Given the description of an element on the screen output the (x, y) to click on. 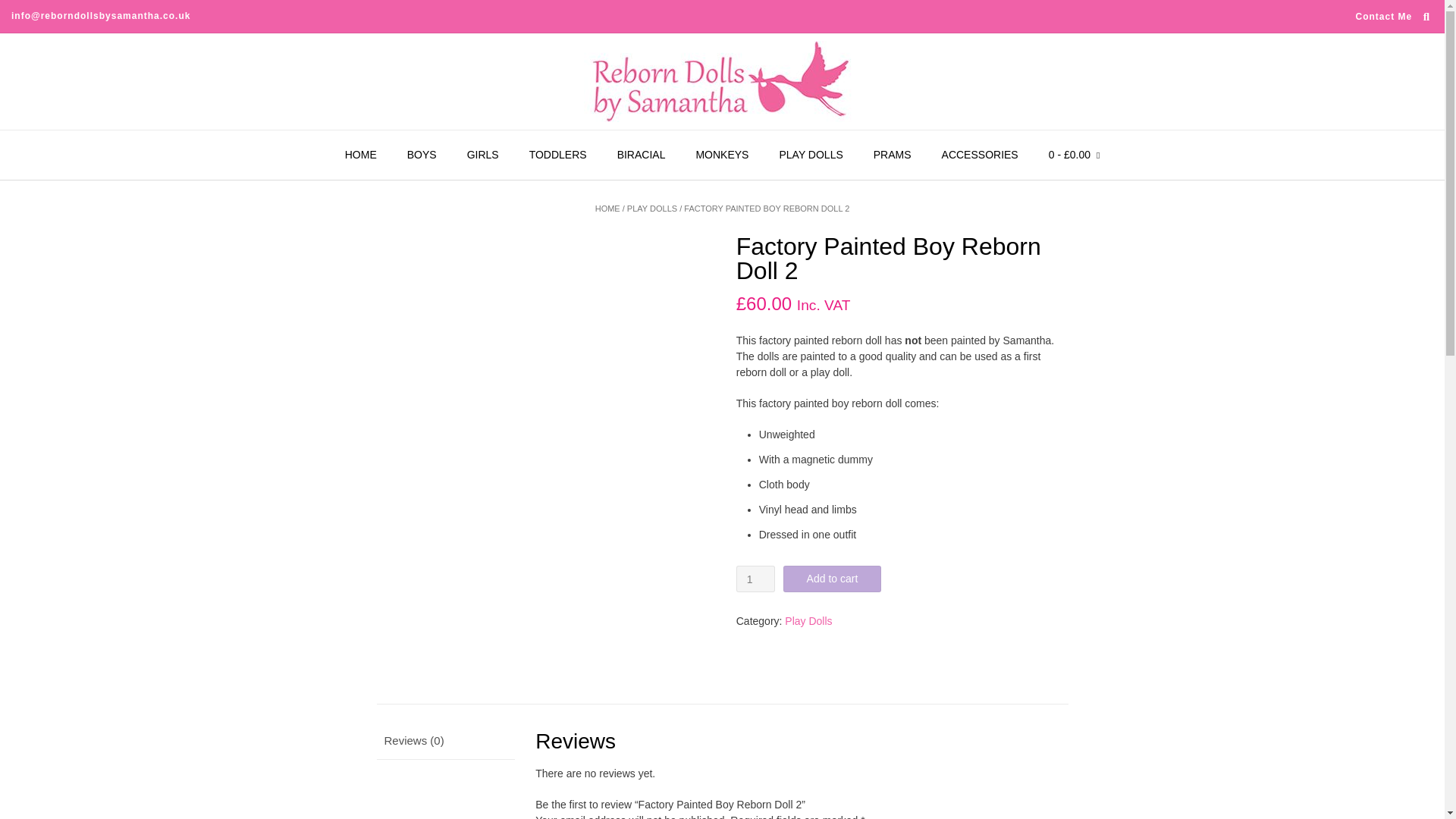
HOME (607, 207)
TODDLERS (557, 155)
PLAY DOLLS (652, 207)
Play Dolls (807, 621)
GIRLS (482, 155)
View your shopping cart (1074, 155)
ACCESSORIES (979, 155)
1 (755, 578)
MONKEYS (720, 155)
Add to cart (832, 578)
HOME (360, 155)
Contact Me (1383, 16)
PRAMS (892, 155)
PLAY DOLLS (809, 155)
BIRACIAL (641, 155)
